Given the description of an element on the screen output the (x, y) to click on. 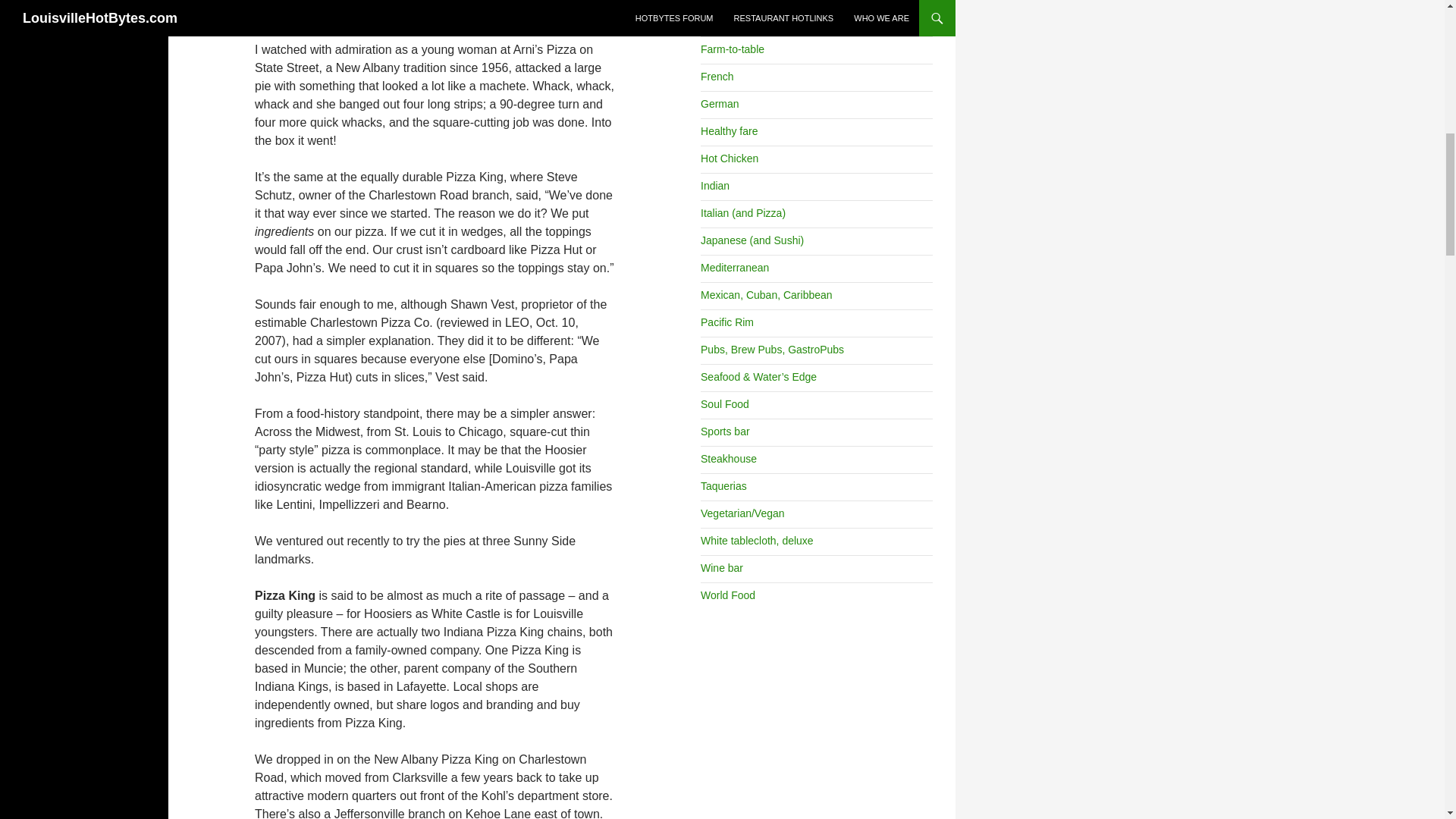
Farm-to-table (732, 49)
Ethiopian (722, 21)
German (719, 103)
French (716, 76)
